Given the description of an element on the screen output the (x, y) to click on. 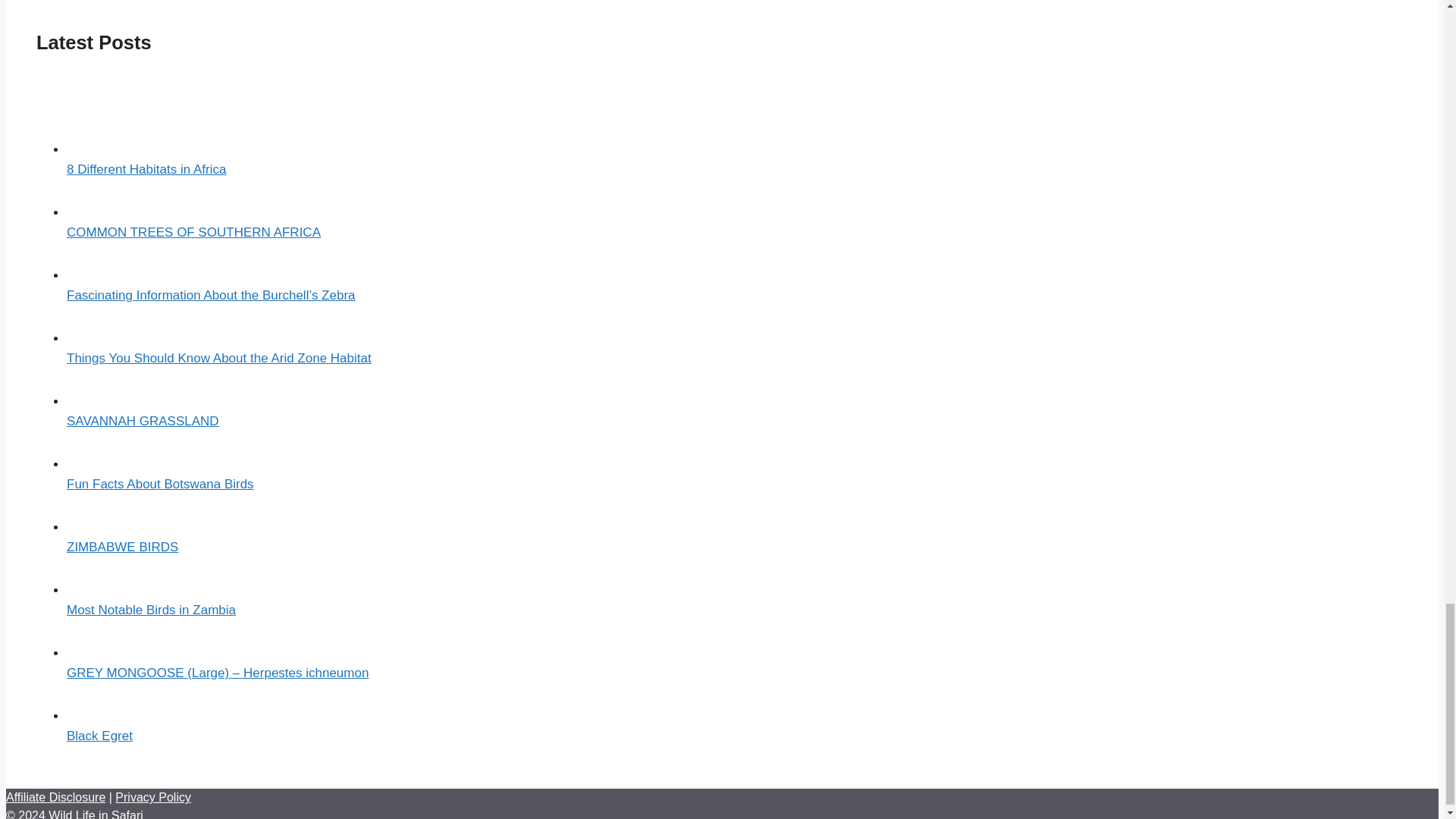
8 Different Habitats in Africa (145, 169)
